Given the description of an element on the screen output the (x, y) to click on. 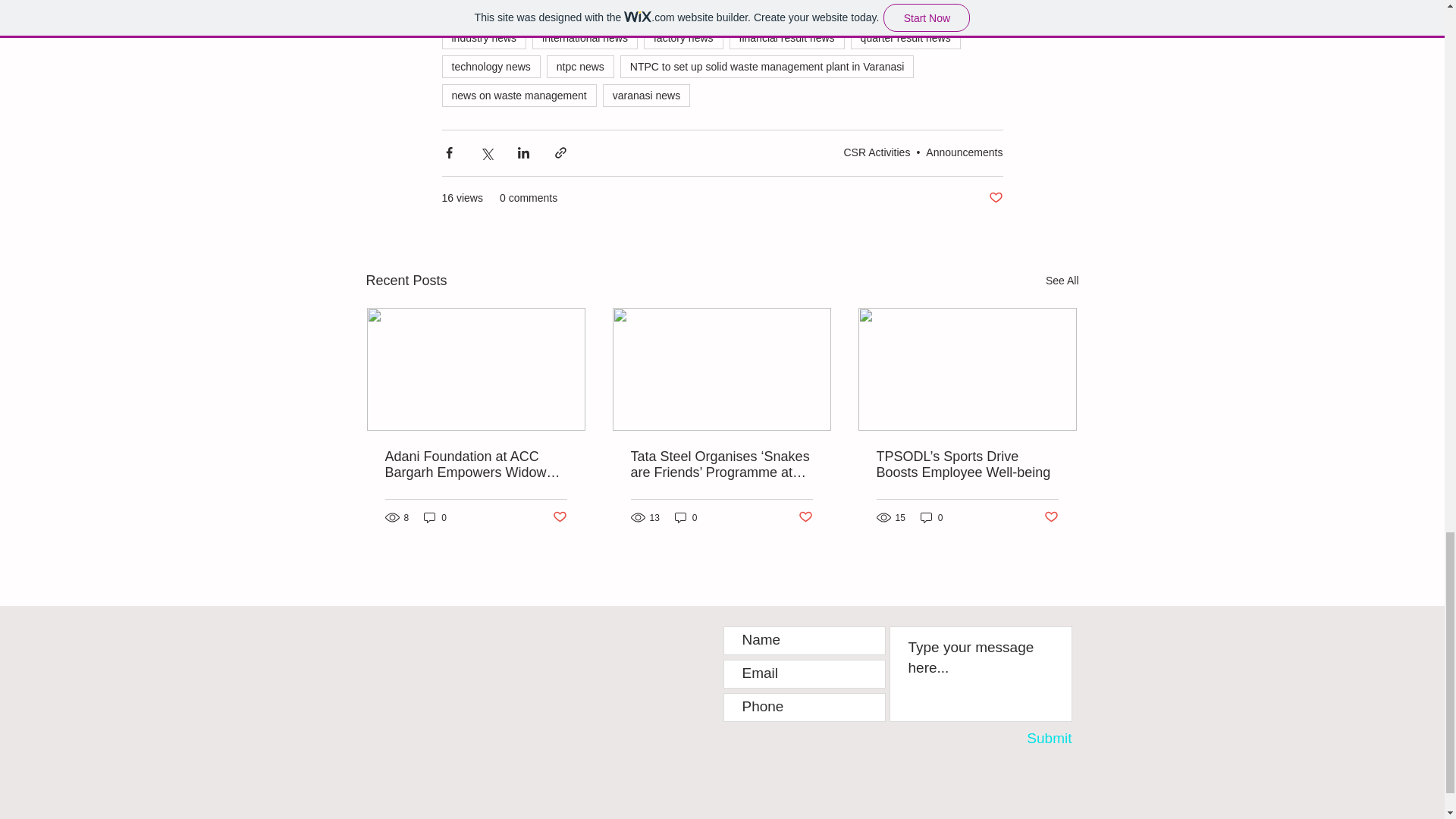
national news (747, 10)
Announcements (964, 152)
technology news (490, 66)
Post not marked as liked (995, 198)
financial result news (786, 37)
market news (659, 10)
industry news (483, 37)
varanasi news (646, 95)
factory news (683, 37)
finance news (932, 10)
